Given the description of an element on the screen output the (x, y) to click on. 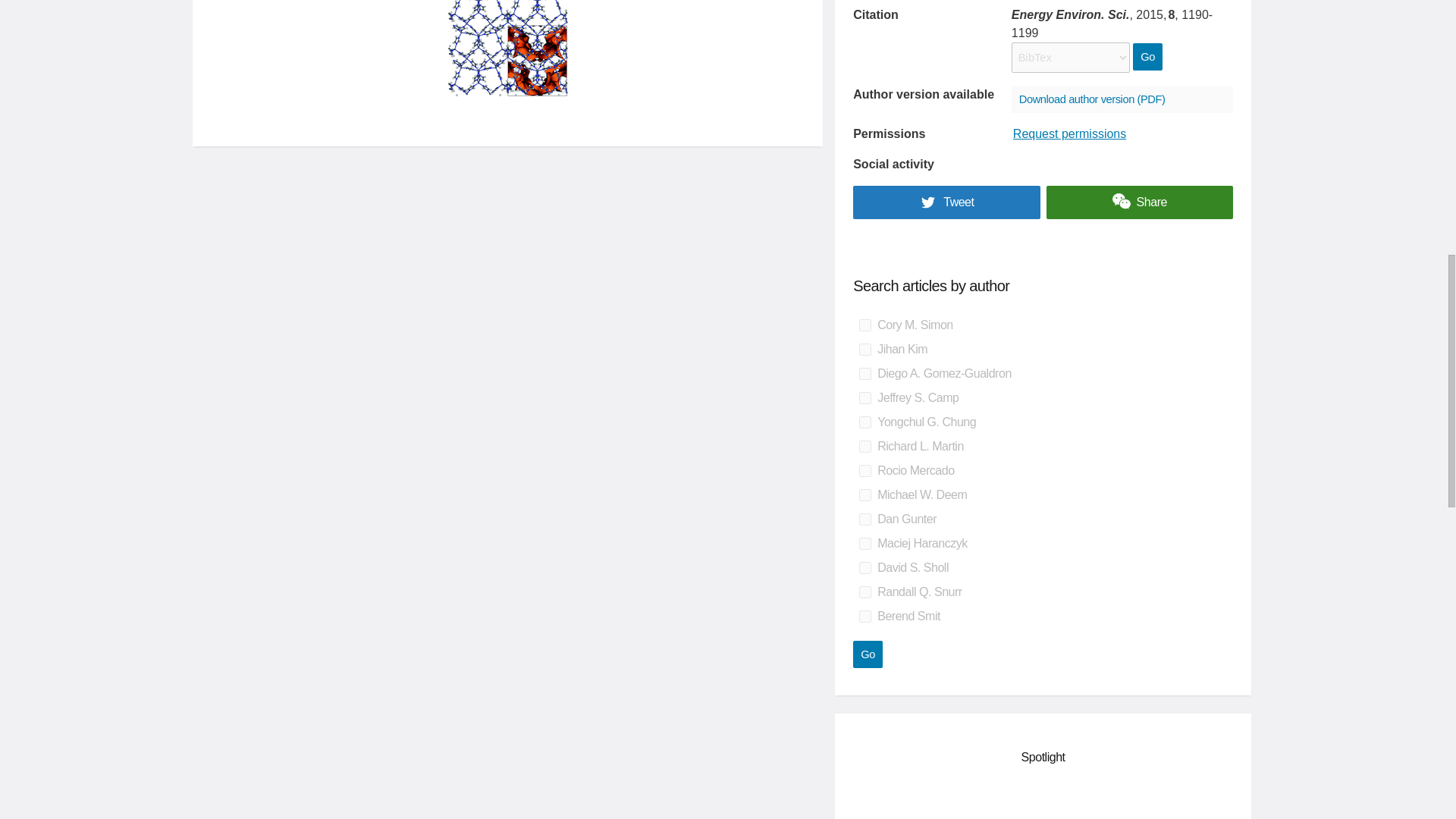
on (864, 592)
on (864, 446)
Go (867, 654)
on (864, 519)
Go (867, 654)
on (864, 567)
on (864, 373)
on (864, 422)
Go (1146, 56)
3rd party ad content (1043, 800)
